Given the description of an element on the screen output the (x, y) to click on. 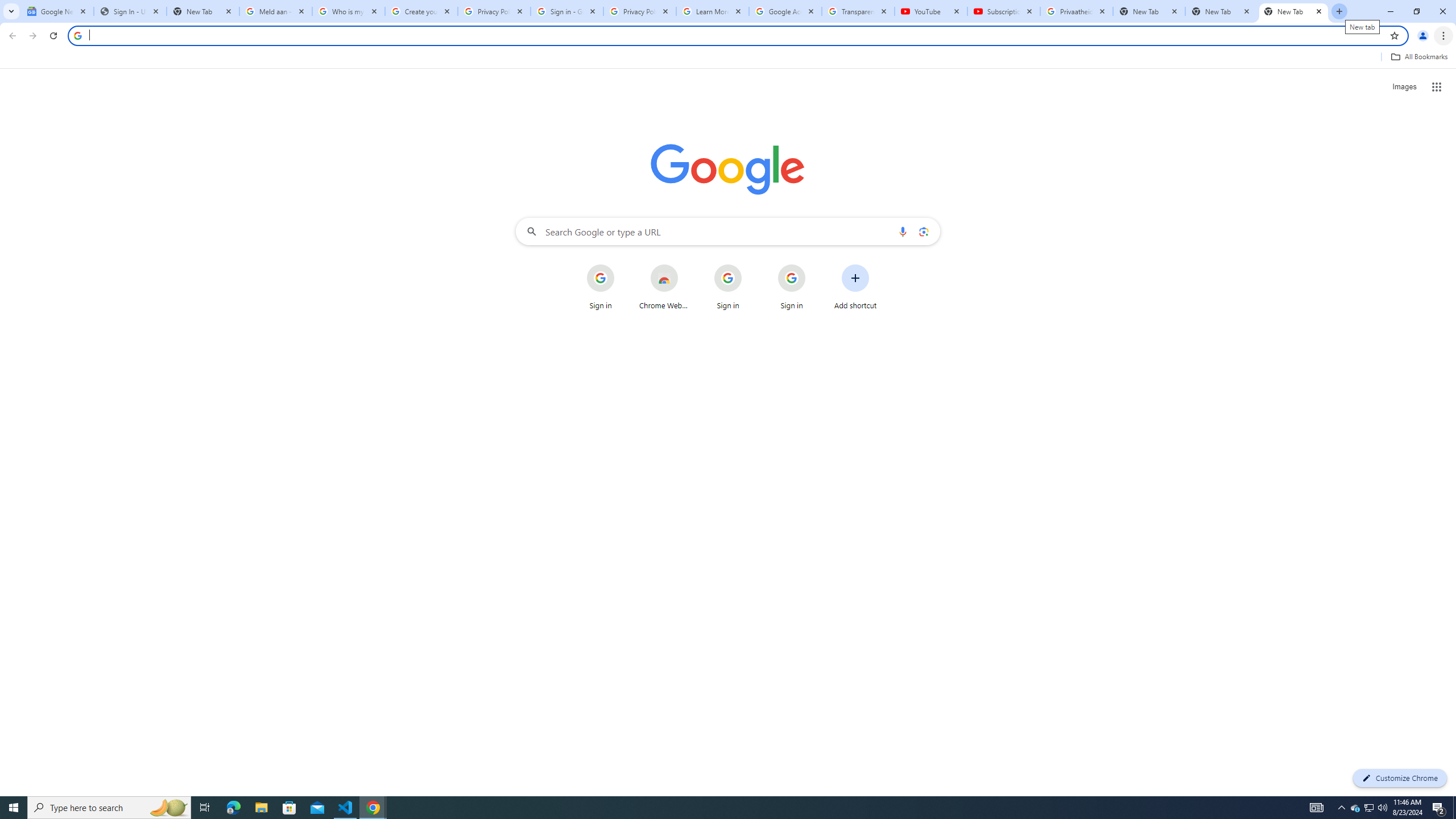
Add shortcut (855, 287)
New Tab (1221, 11)
Bookmarks (728, 58)
